Given the description of an element on the screen output the (x, y) to click on. 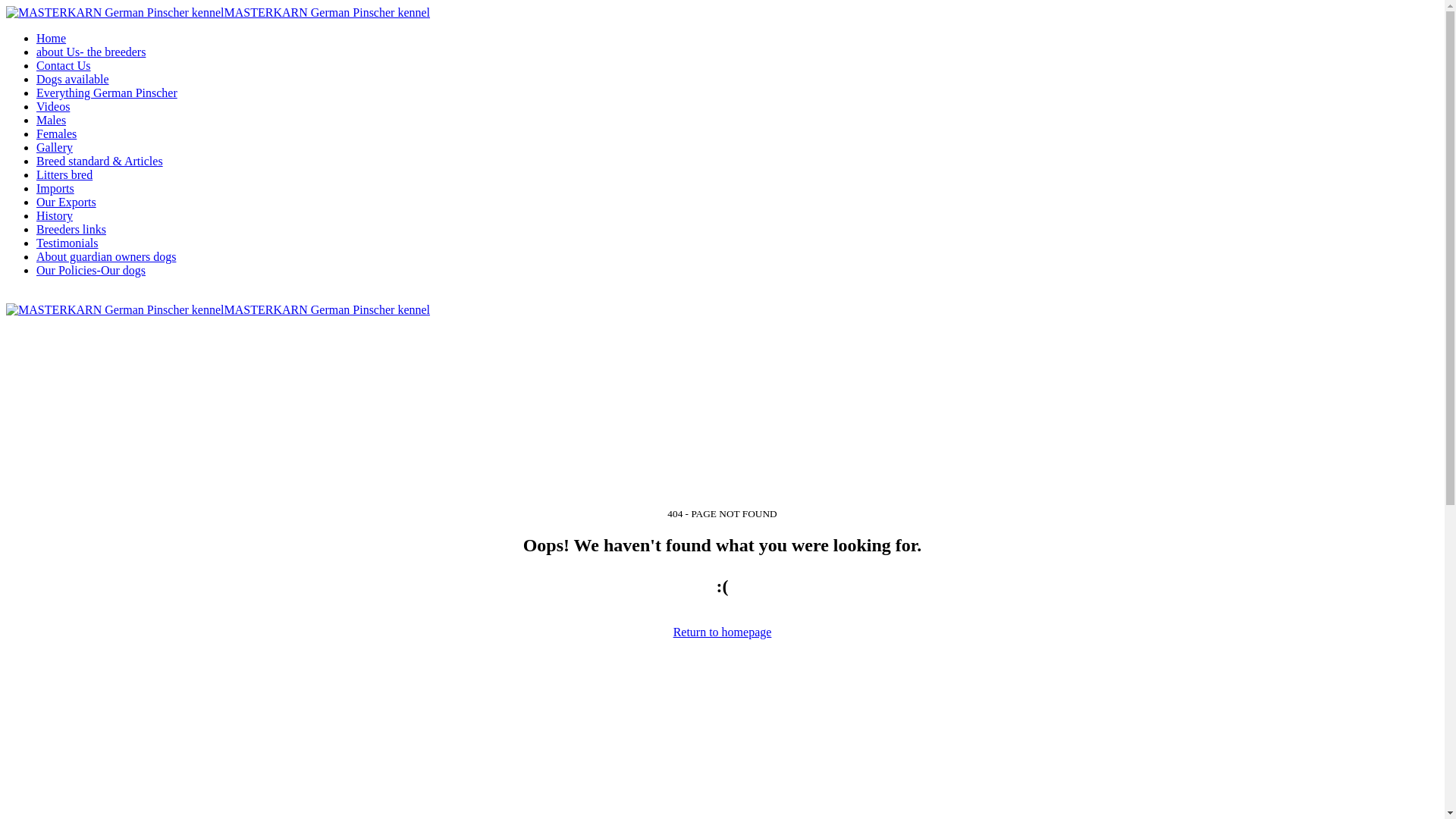
History Element type: text (54, 215)
Testimonials Element type: text (67, 242)
Litters bred Element type: text (64, 174)
MASTERKARN German Pinscher kennel Element type: text (217, 309)
Videos Element type: text (52, 106)
Our Policies-Our dogs Element type: text (90, 269)
Gallery Element type: text (54, 147)
Breed standard & Articles Element type: text (99, 160)
Home Element type: text (50, 37)
Breeders links Element type: text (71, 228)
Everything German Pinscher Element type: text (106, 92)
Males Element type: text (50, 119)
Females Element type: text (56, 133)
Dogs available Element type: text (72, 78)
Contact Us Element type: text (63, 65)
Return to homepage Element type: text (722, 631)
  Element type: text (7, 295)
About guardian owners dogs Element type: text (105, 256)
Our Exports Element type: text (66, 201)
about Us- the breeders Element type: text (90, 51)
Imports Element type: text (55, 188)
MASTERKARN German Pinscher kennel Element type: text (217, 12)
